Given the description of an element on the screen output the (x, y) to click on. 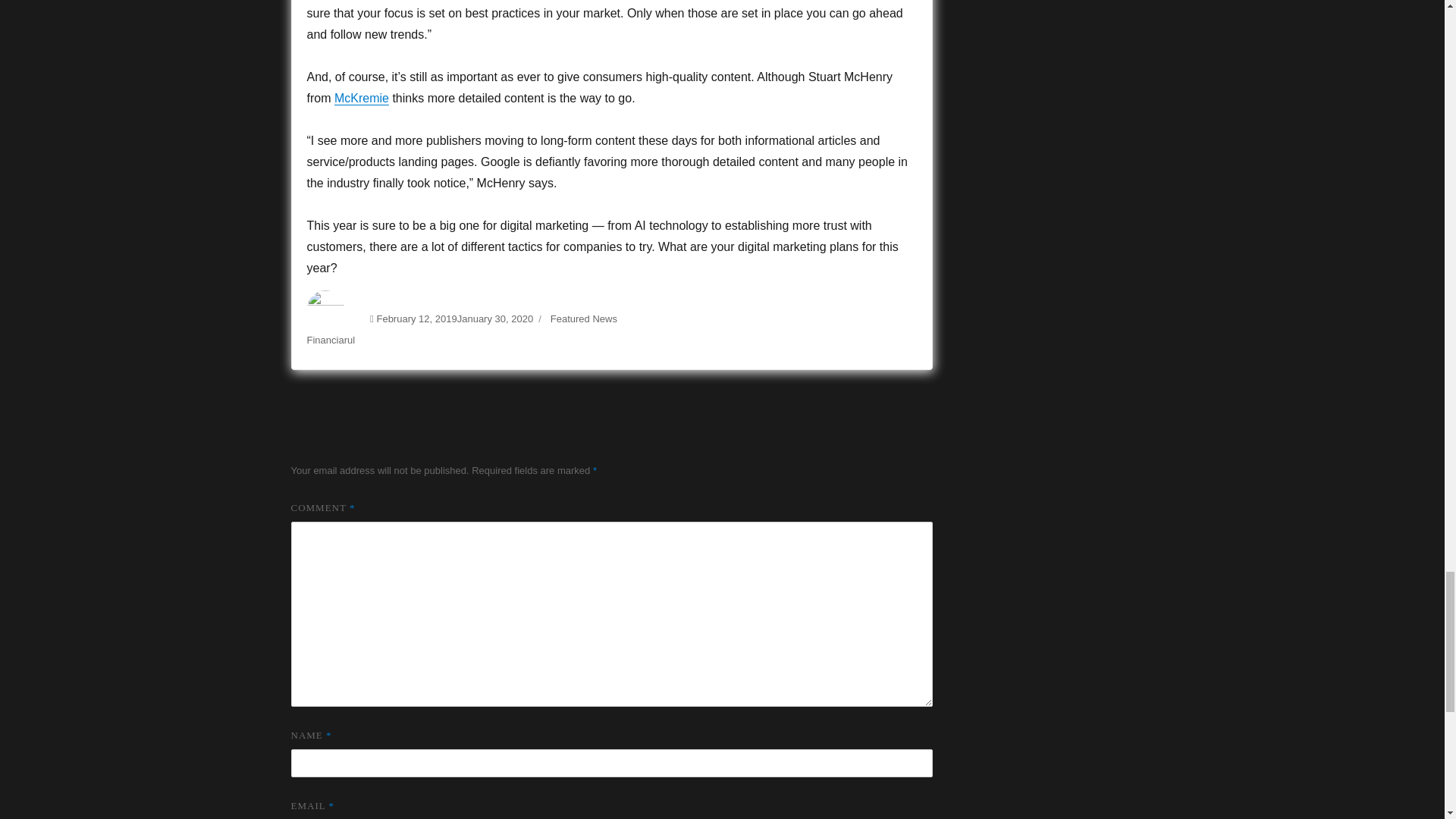
Financiarul (330, 339)
February 12, 2019January 30, 2020 (453, 318)
McKremie (361, 97)
Featured News (583, 318)
